Given the description of an element on the screen output the (x, y) to click on. 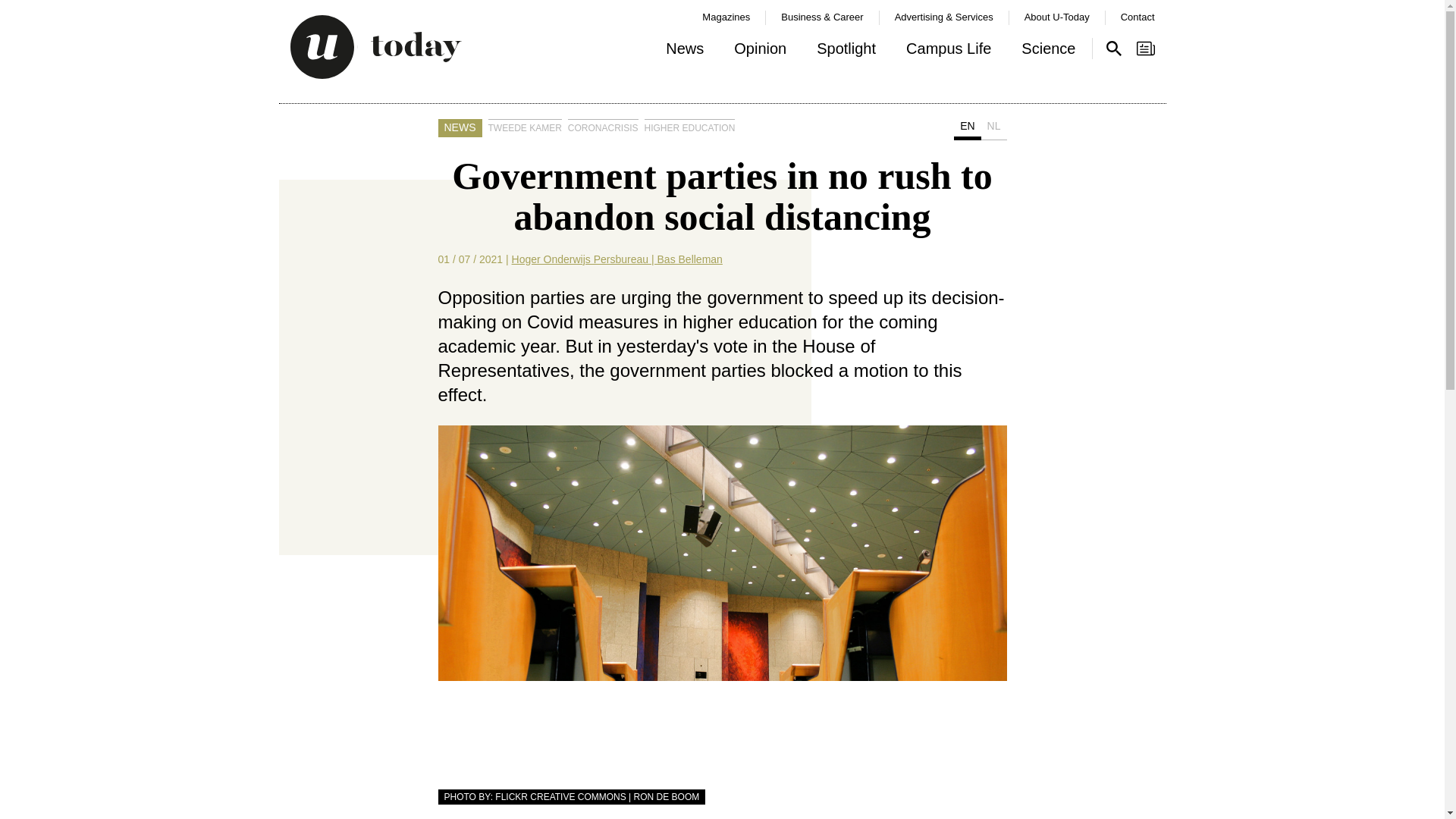
Contact (1137, 16)
NL (994, 129)
EN (966, 129)
HIGHER EDUCATION (690, 127)
NEWS (460, 127)
Search (1112, 48)
CORONACRISIS (603, 127)
Campus Life (948, 51)
Spotlight (846, 51)
TWEEDE KAMER (524, 127)
